Given the description of an element on the screen output the (x, y) to click on. 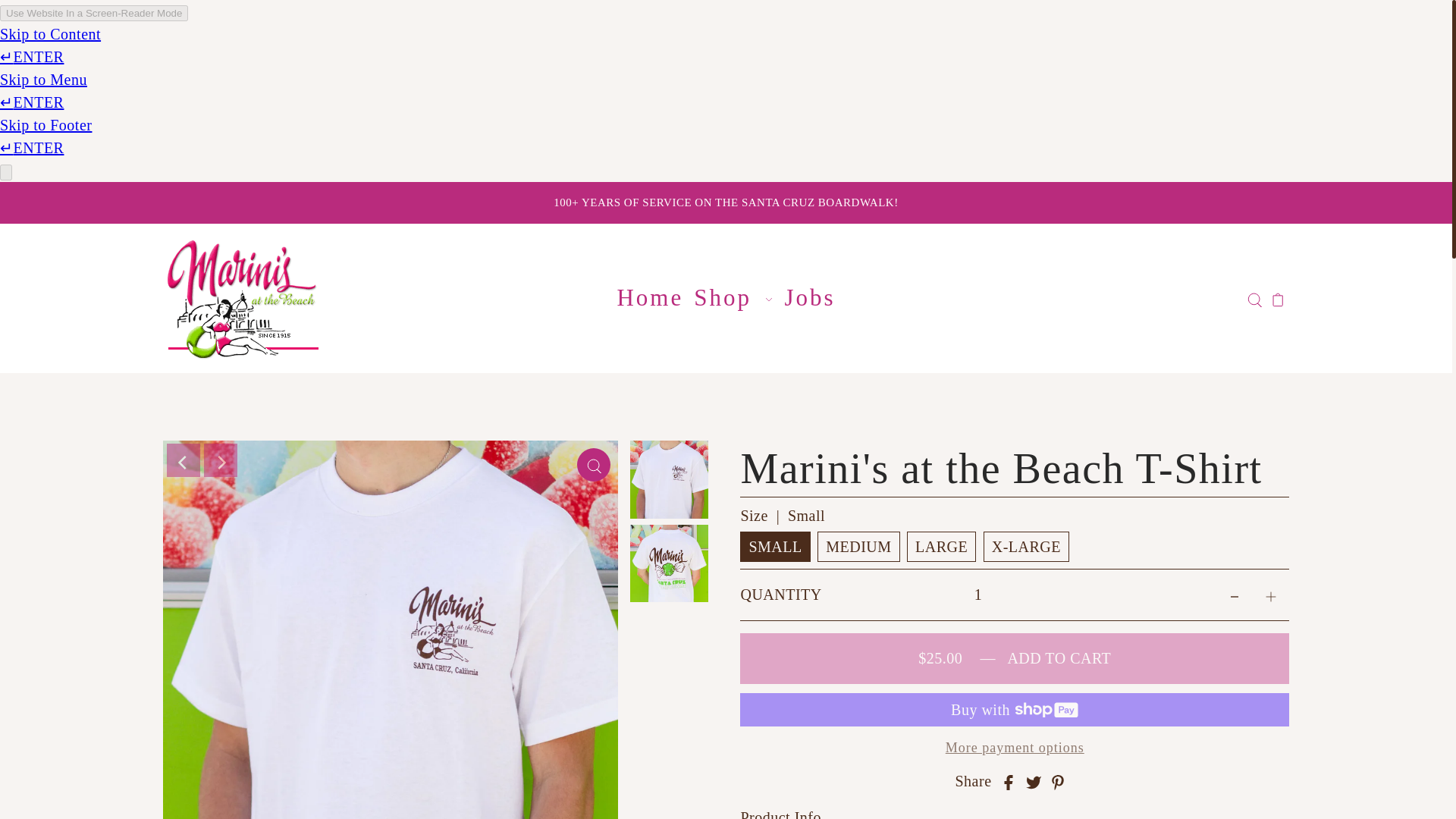
click to zoom-in (593, 464)
1 (977, 594)
Jobs (809, 298)
Shop (733, 298)
More payment options (1013, 747)
Home (649, 298)
